Given the description of an element on the screen output the (x, y) to click on. 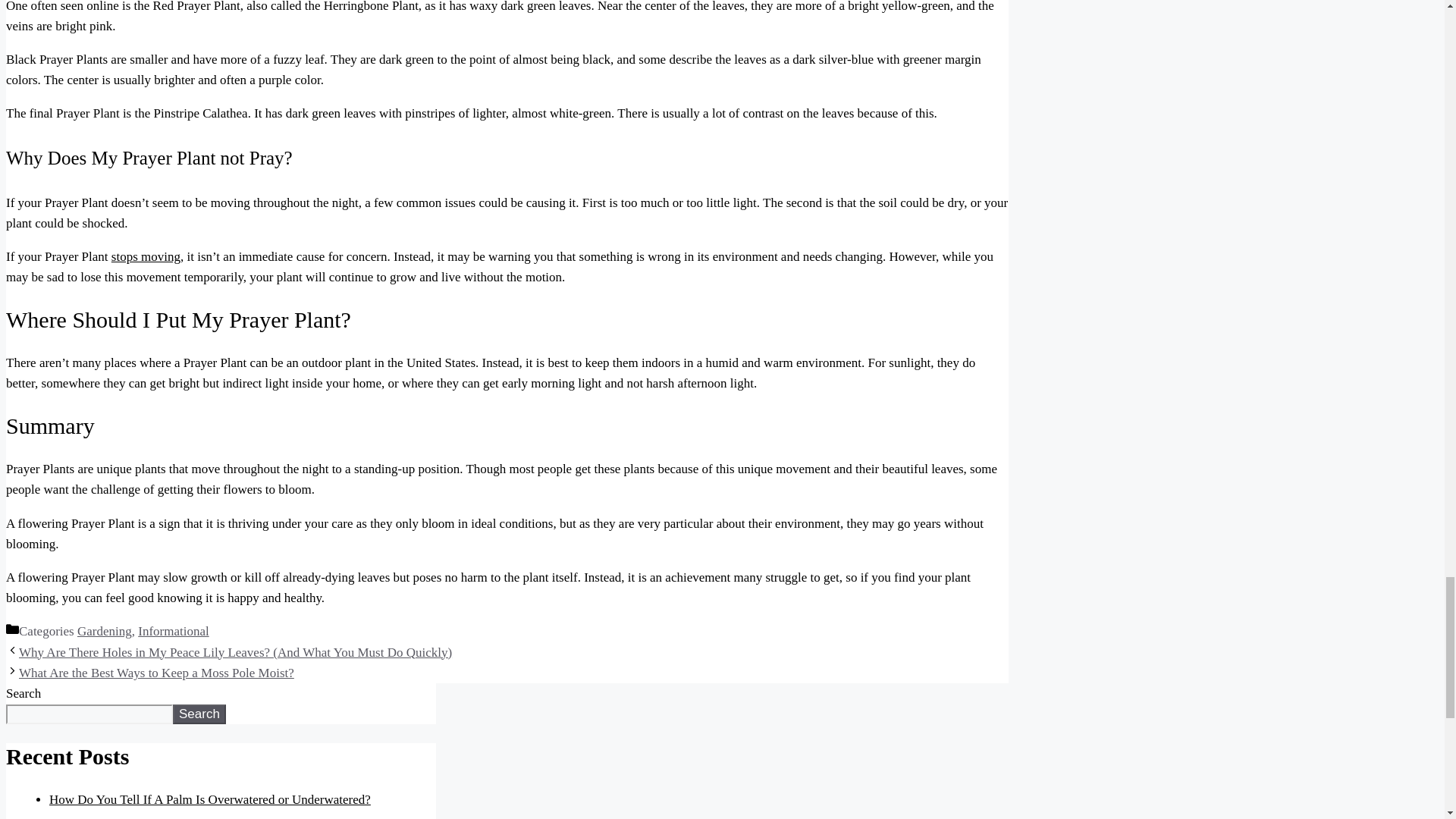
Gardening (104, 631)
Search (199, 713)
Informational (173, 631)
What Are the Best Ways to Keep a Moss Pole Moist? (156, 672)
stops moving (146, 256)
How Do You Tell If A Palm Is Overwatered or Underwatered? (210, 799)
